Given the description of an element on the screen output the (x, y) to click on. 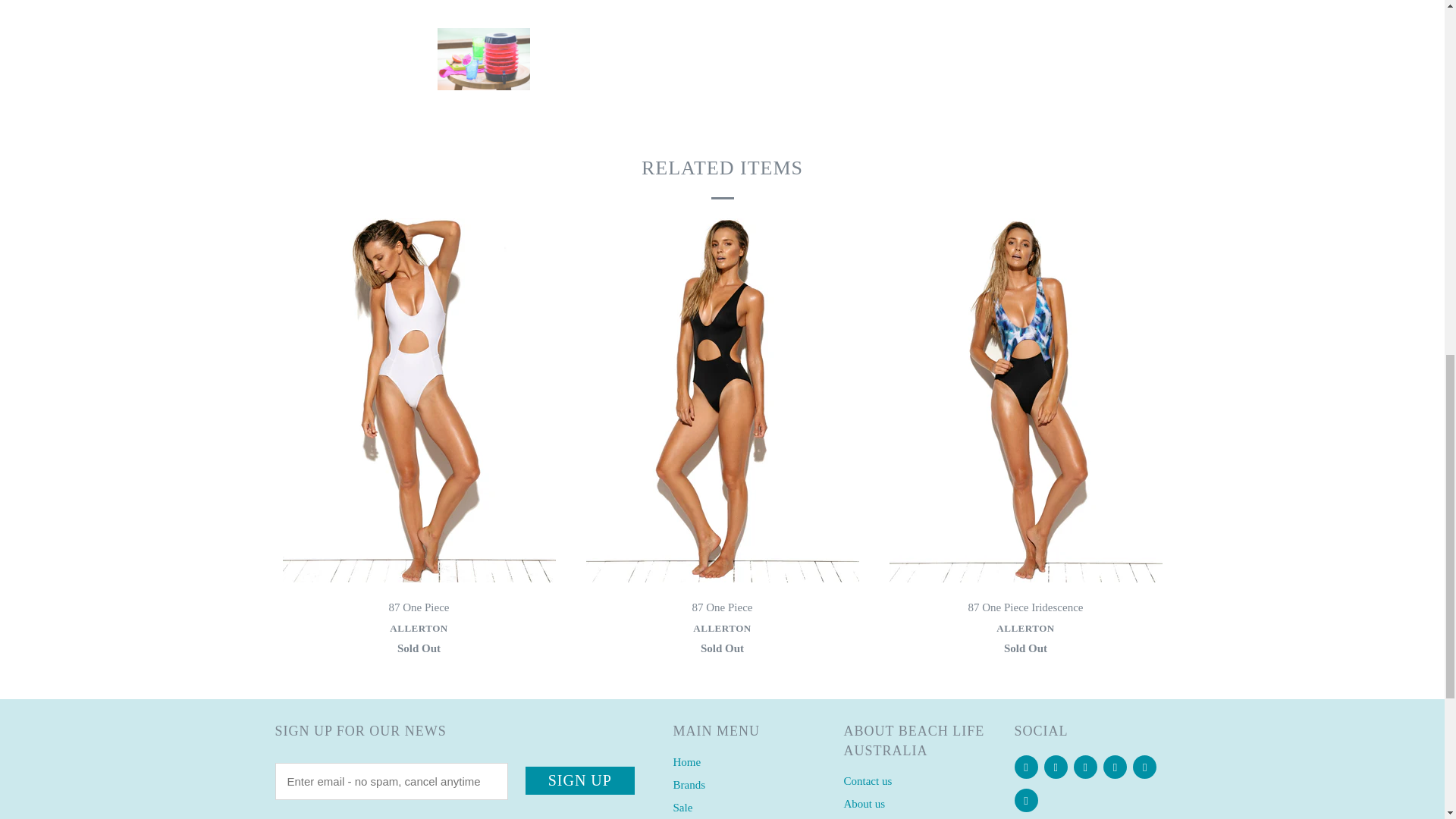
Sign Up (579, 780)
